Given the description of an element on the screen output the (x, y) to click on. 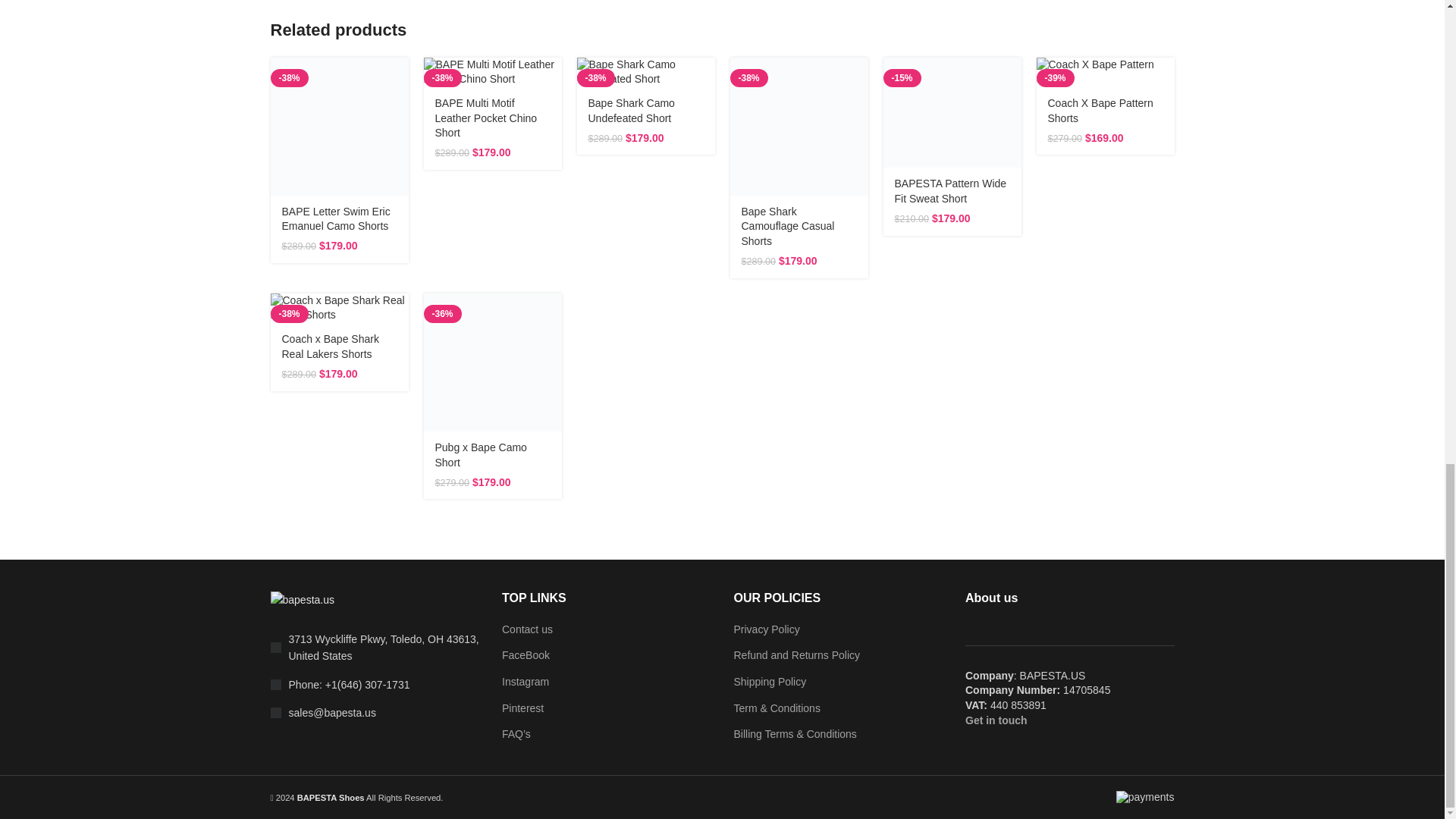
wd-cursor-light (275, 647)
wd-phone-light (275, 684)
